Given the description of an element on the screen output the (x, y) to click on. 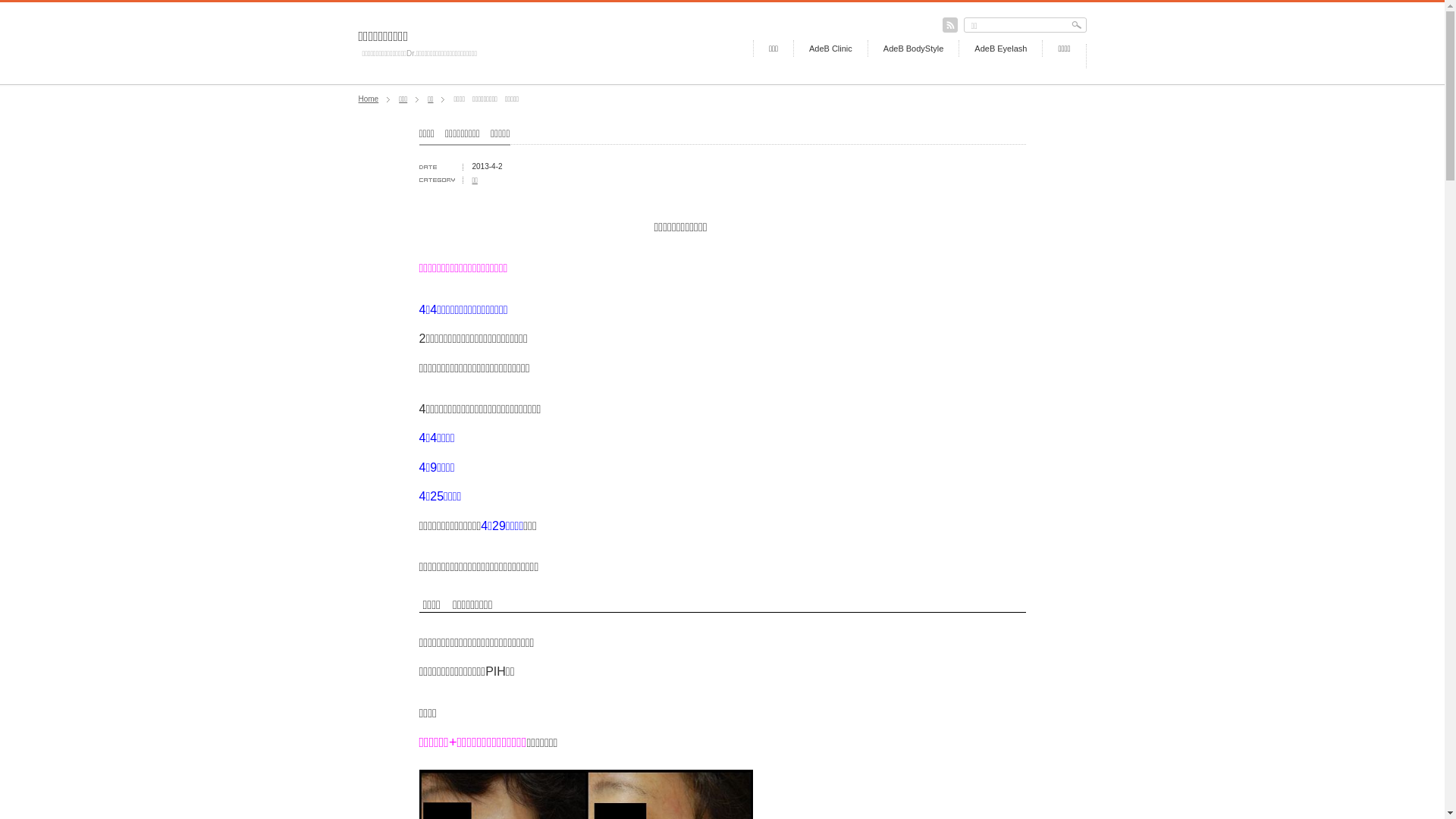
AdeB BodyStyle Element type: text (905, 48)
rss Element type: hover (949, 24)
AdeB Clinic Element type: text (822, 48)
Home Element type: text (367, 98)
AdeB Eyelash Element type: text (992, 48)
